Given the description of an element on the screen output the (x, y) to click on. 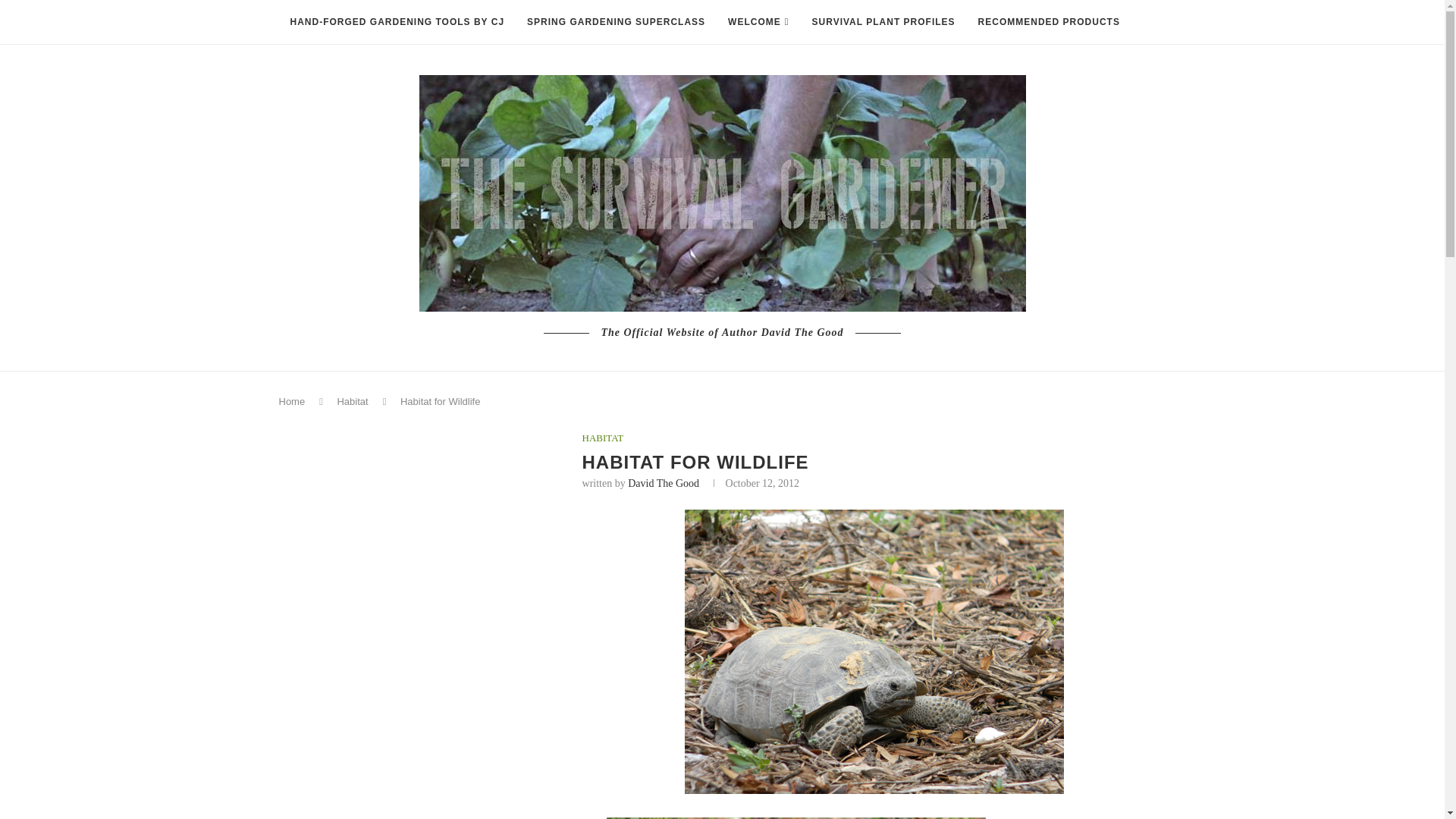
WELCOME (757, 22)
Home (292, 401)
SPRING GARDENING SUPERCLASS (615, 22)
MUSHROOM FORAGING BOOKS (370, 67)
DIG DEEPER (508, 67)
SURVIVAL PLANT PROFILES (883, 22)
HABITAT (603, 438)
RECOMMENDED PRODUCTS (1048, 22)
Habitat (352, 401)
HAND-FORGED GARDENING TOOLS BY CJ (397, 22)
David The Good (662, 482)
